Given the description of an element on the screen output the (x, y) to click on. 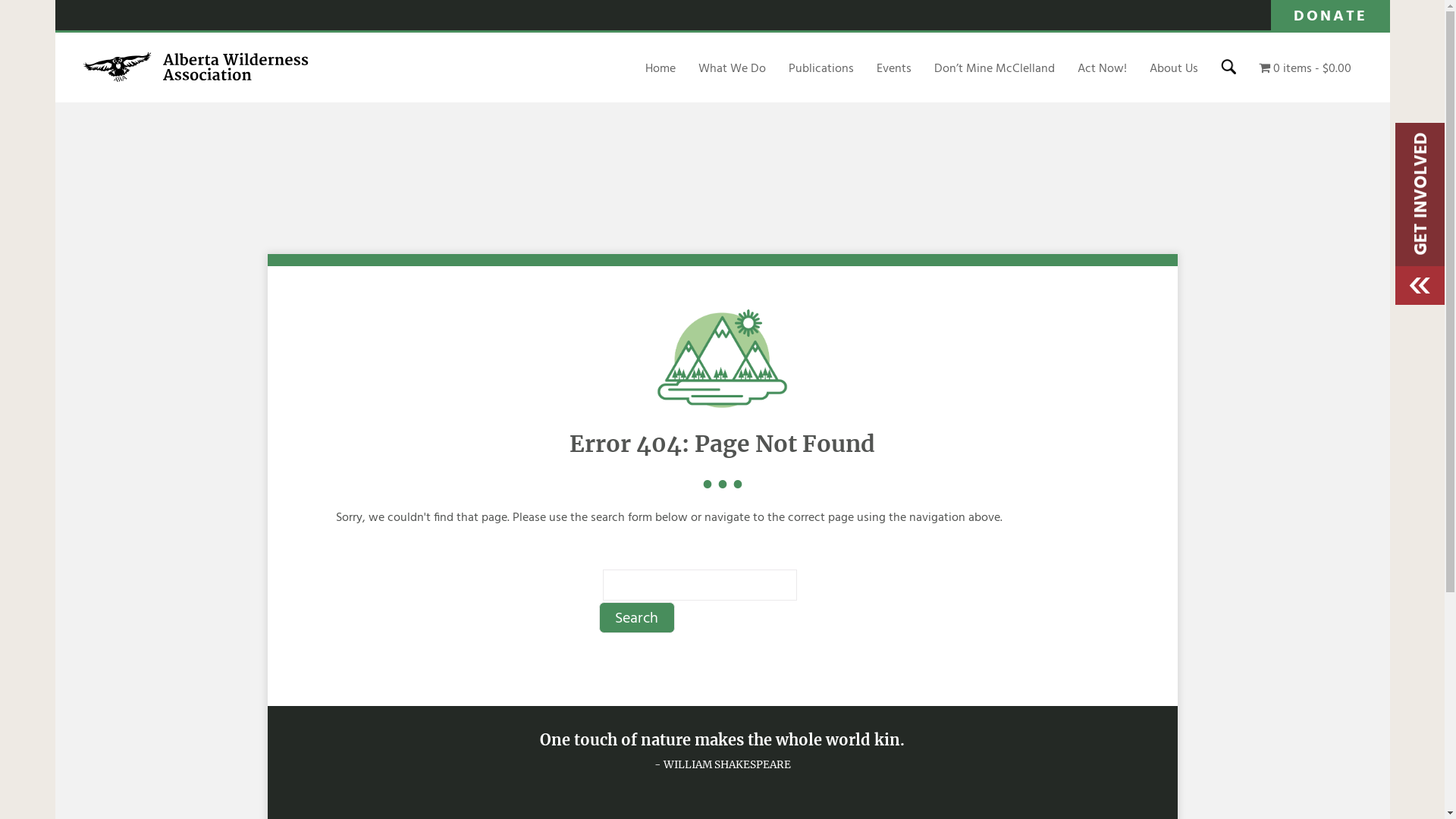
Home Element type: text (660, 68)
Search Element type: text (636, 617)
AWA Home Element type: hover (195, 79)
Publications Element type: text (820, 68)
DONATE Element type: text (1330, 15)
About Us Element type: text (1173, 68)
Act Now! Element type: text (1101, 68)
Events Element type: text (893, 68)
0 items$0.00 Element type: text (1304, 68)
What We Do Element type: text (731, 68)
